Given the description of an element on the screen output the (x, y) to click on. 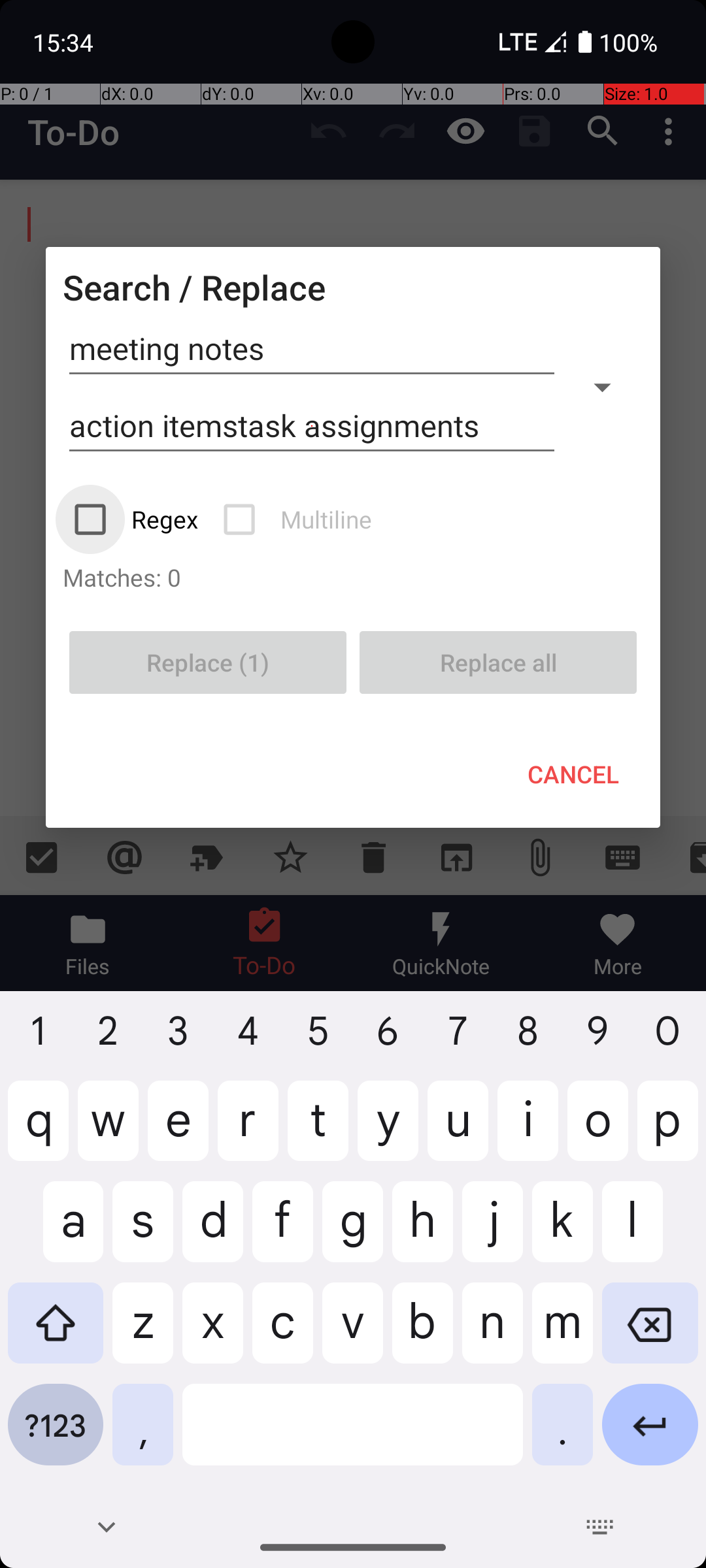
Search / Replace Element type: android.widget.TextView (193, 286)
meeting notes Element type: android.widget.EditText (311, 348)
action itemstask assignments Element type: android.widget.EditText (311, 425)
Regex Element type: android.widget.CheckBox (136, 518)
Multiline Element type: android.widget.CheckBox (298, 518)
Matches: 0 Element type: android.widget.TextView (352, 576)
Replace (1) Element type: android.widget.Button (207, 662)
Replace all Element type: android.widget.Button (498, 662)
